Given the description of an element on the screen output the (x, y) to click on. 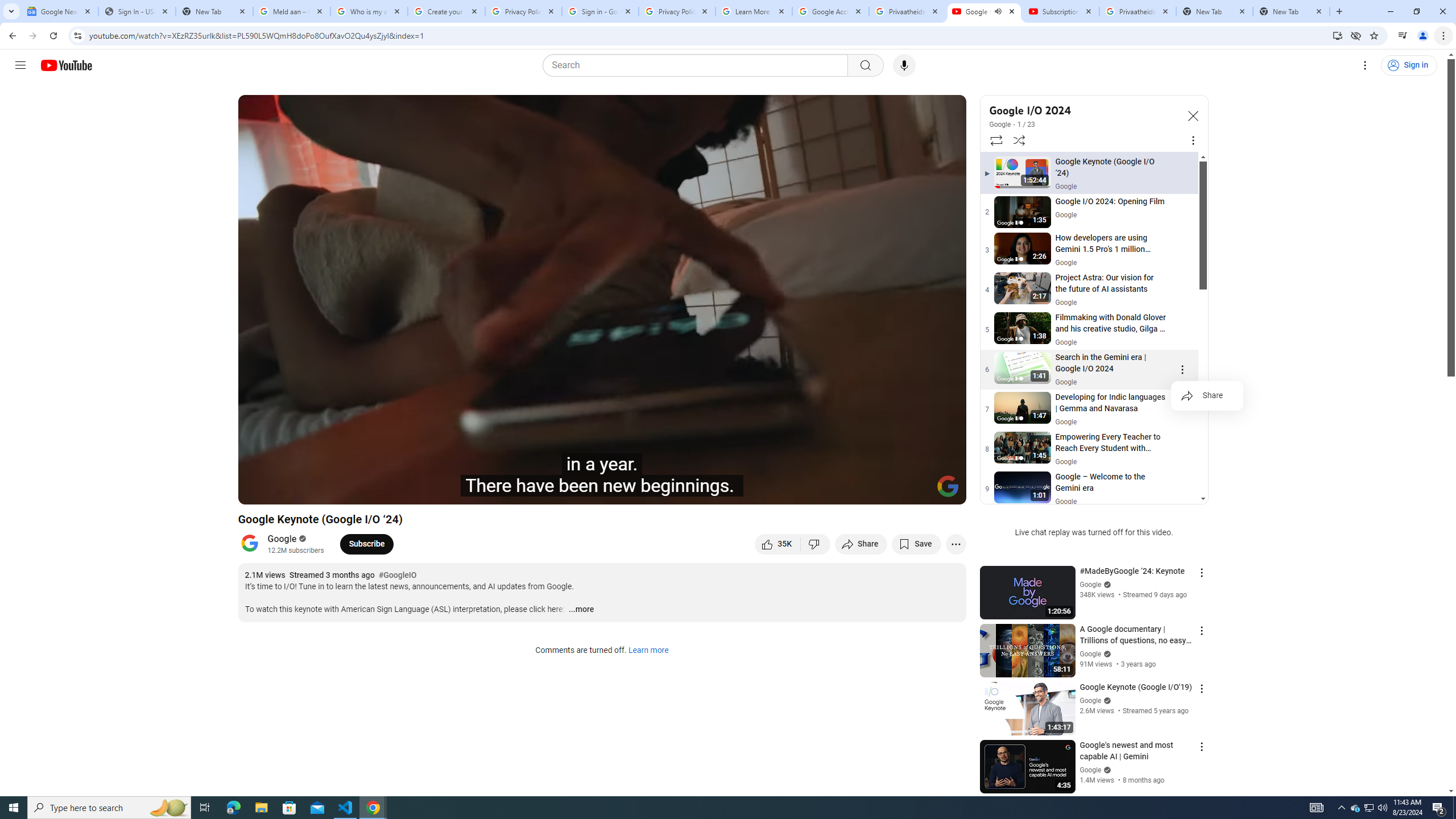
Loop playlist (995, 140)
Collapse (1192, 115)
Full screen (f) (945, 490)
Subtitles/closed captions unavailable (836, 490)
like this video along with 35,367 other people (777, 543)
Google I/O 2024 (1082, 109)
